Given the description of an element on the screen output the (x, y) to click on. 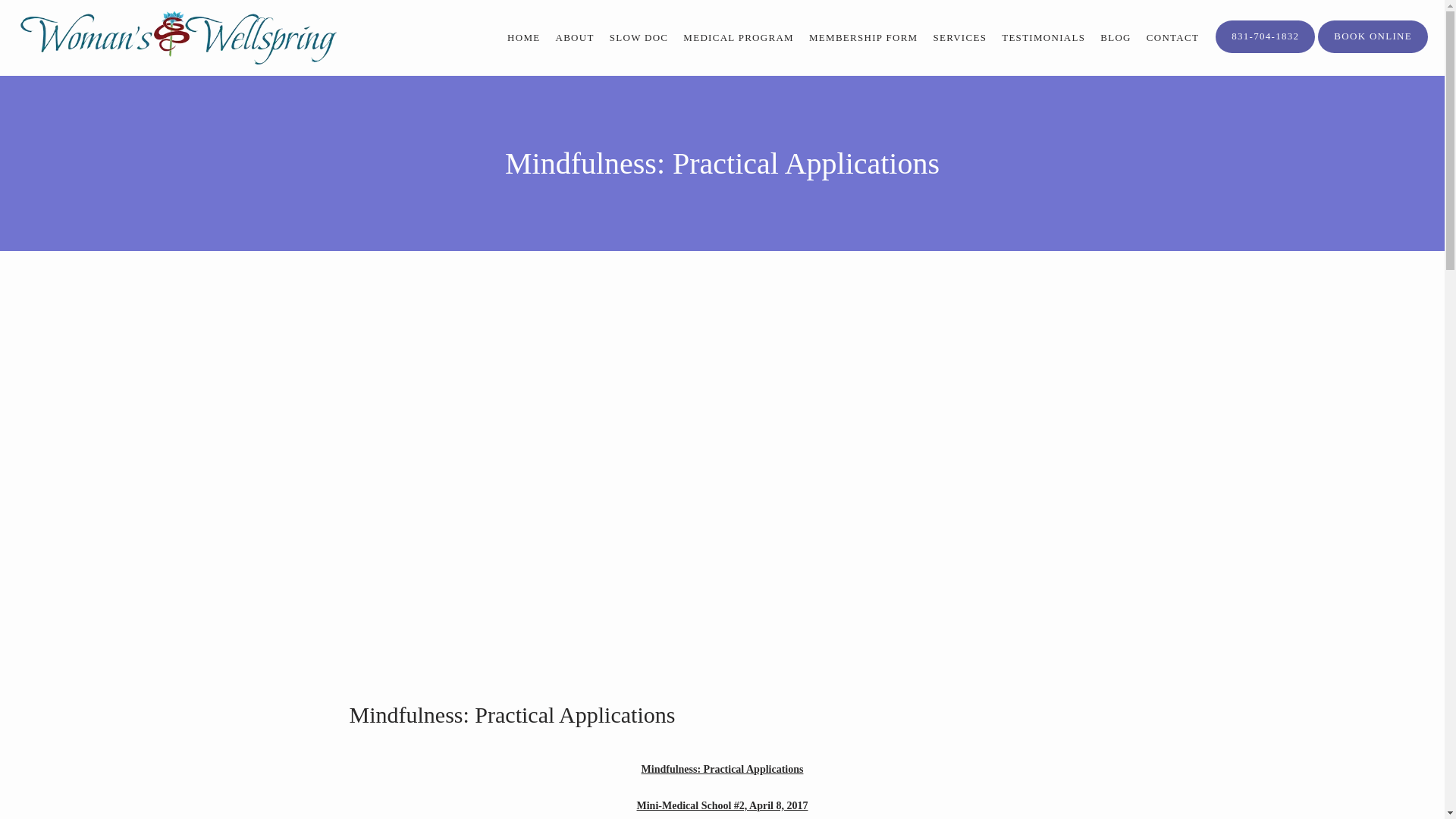
HOME (523, 37)
ABOUT (574, 37)
BLOG (1115, 37)
BOOK ONLINE (1372, 50)
TESTIMONIALS (1042, 37)
SERVICES (960, 37)
CONTACT (1172, 37)
831-704-1832 (1265, 50)
MEMBERSHIP FORM (863, 37)
SLOW DOC (639, 37)
MEDICAL PROGRAM (737, 37)
